Given the description of an element on the screen output the (x, y) to click on. 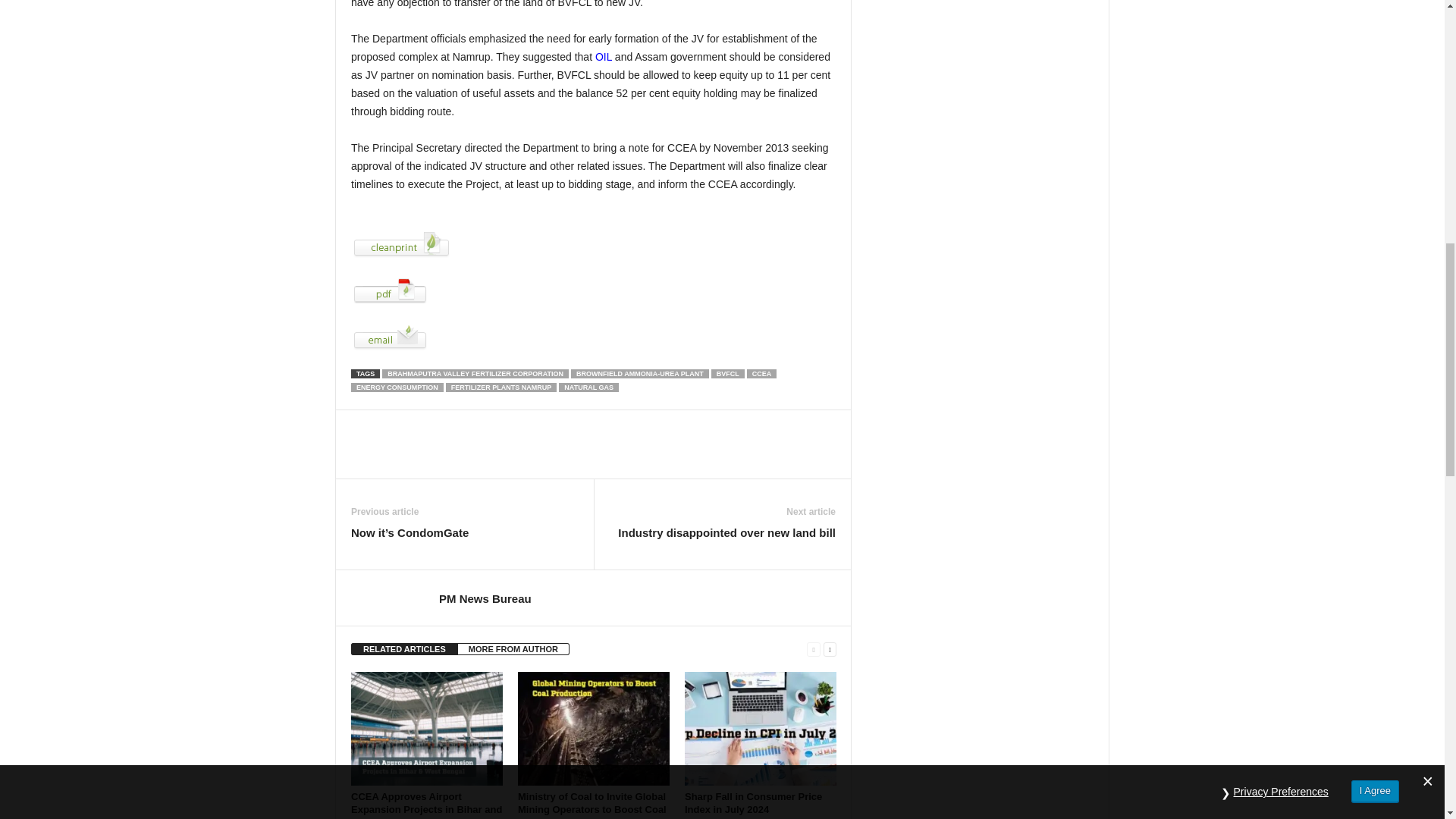
Print page (592, 245)
BRAHMAPUTRA VALLEY FERTILIZER CORPORATION (475, 373)
BROWNFIELD AMMONIA-UREA PLANT (639, 373)
Email page (592, 337)
PDF page (592, 291)
OIL (601, 56)
